Given the description of an element on the screen output the (x, y) to click on. 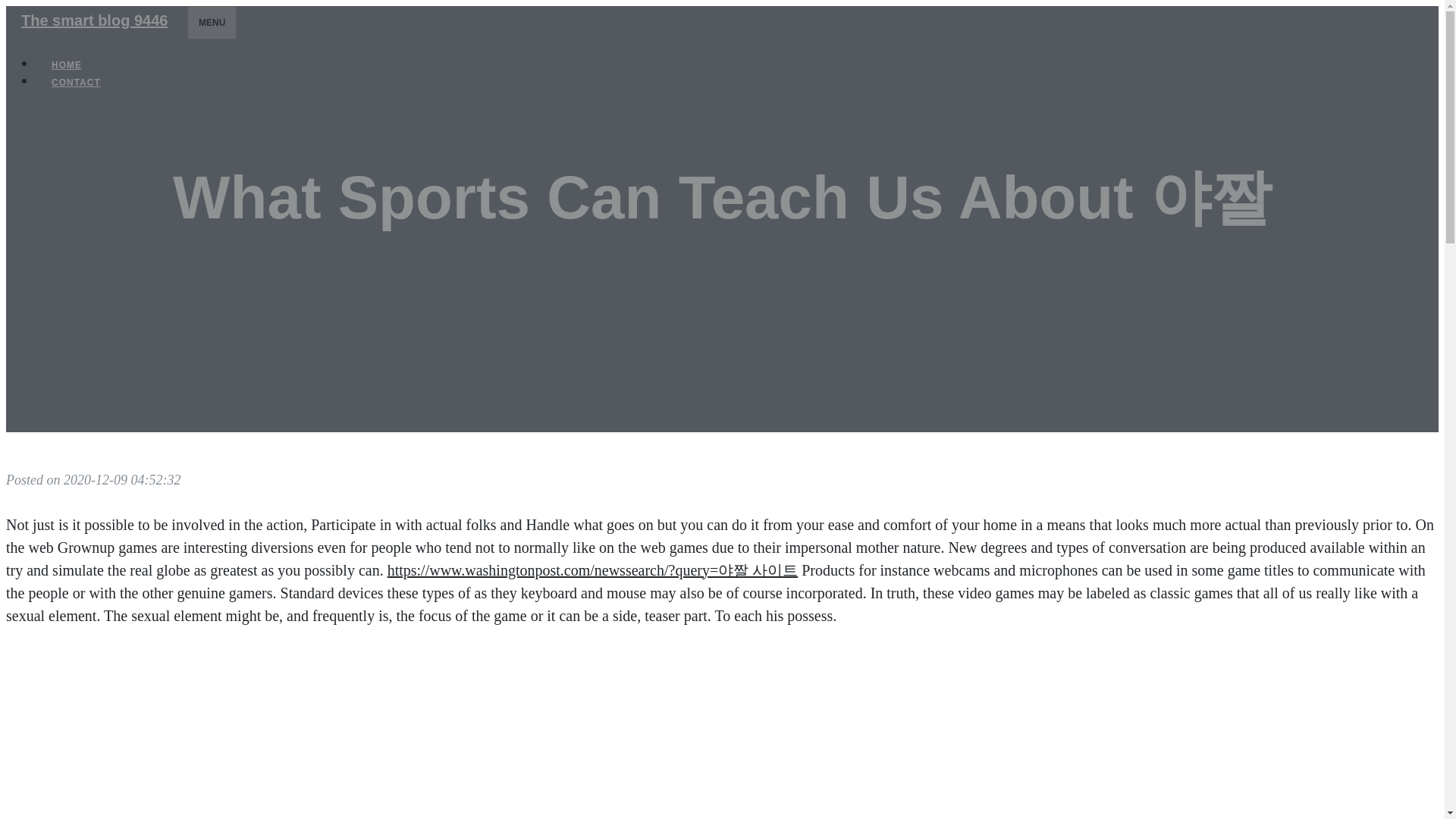
HOME (66, 64)
CONTACT (76, 82)
MENU (211, 22)
The smart blog 9446 (94, 20)
